Given the description of an element on the screen output the (x, y) to click on. 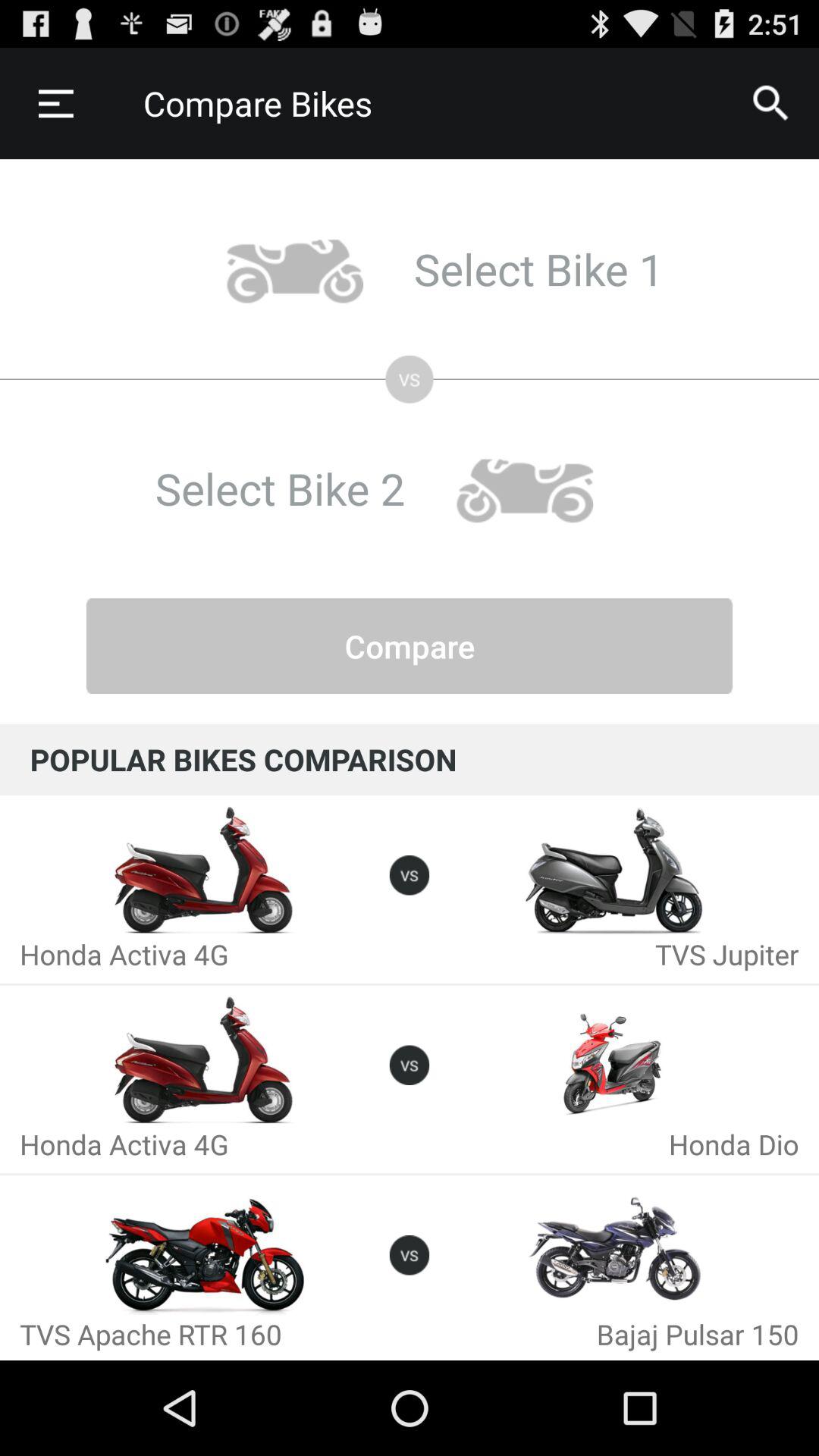
launch the item at the top right corner (771, 103)
